Given the description of an element on the screen output the (x, y) to click on. 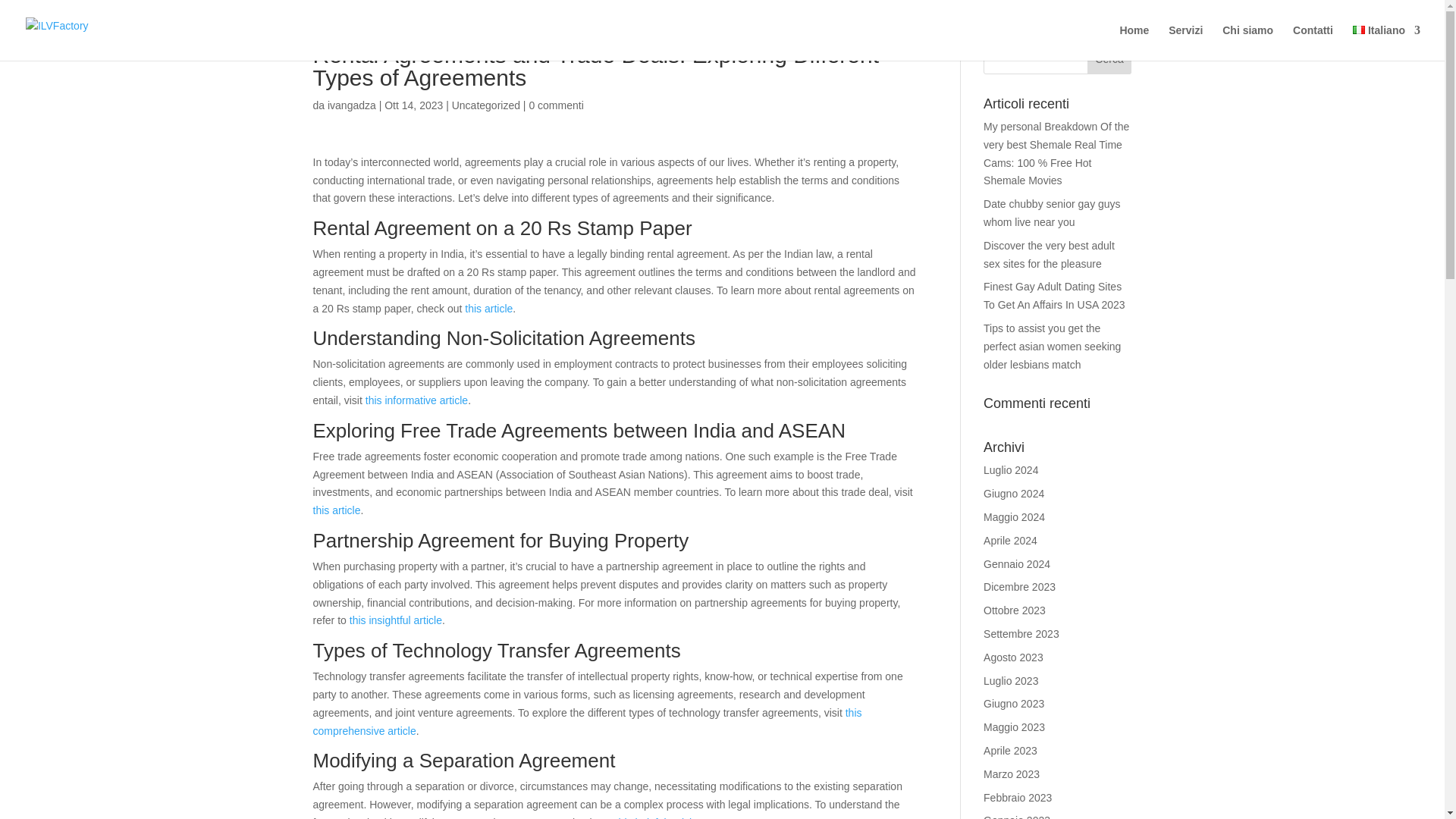
this insightful article (395, 620)
Contatti (1312, 42)
Servizi (1185, 42)
Maggio 2024 (1014, 517)
Giugno 2024 (1013, 493)
Aprile 2024 (1010, 540)
ivangadza (351, 105)
this comprehensive article (587, 721)
Febbraio 2023 (1017, 797)
Luglio 2024 (1011, 469)
Gennaio 2024 (1016, 563)
Ottobre 2023 (1014, 610)
this article (336, 510)
Agosto 2023 (1013, 657)
